Given the description of an element on the screen output the (x, y) to click on. 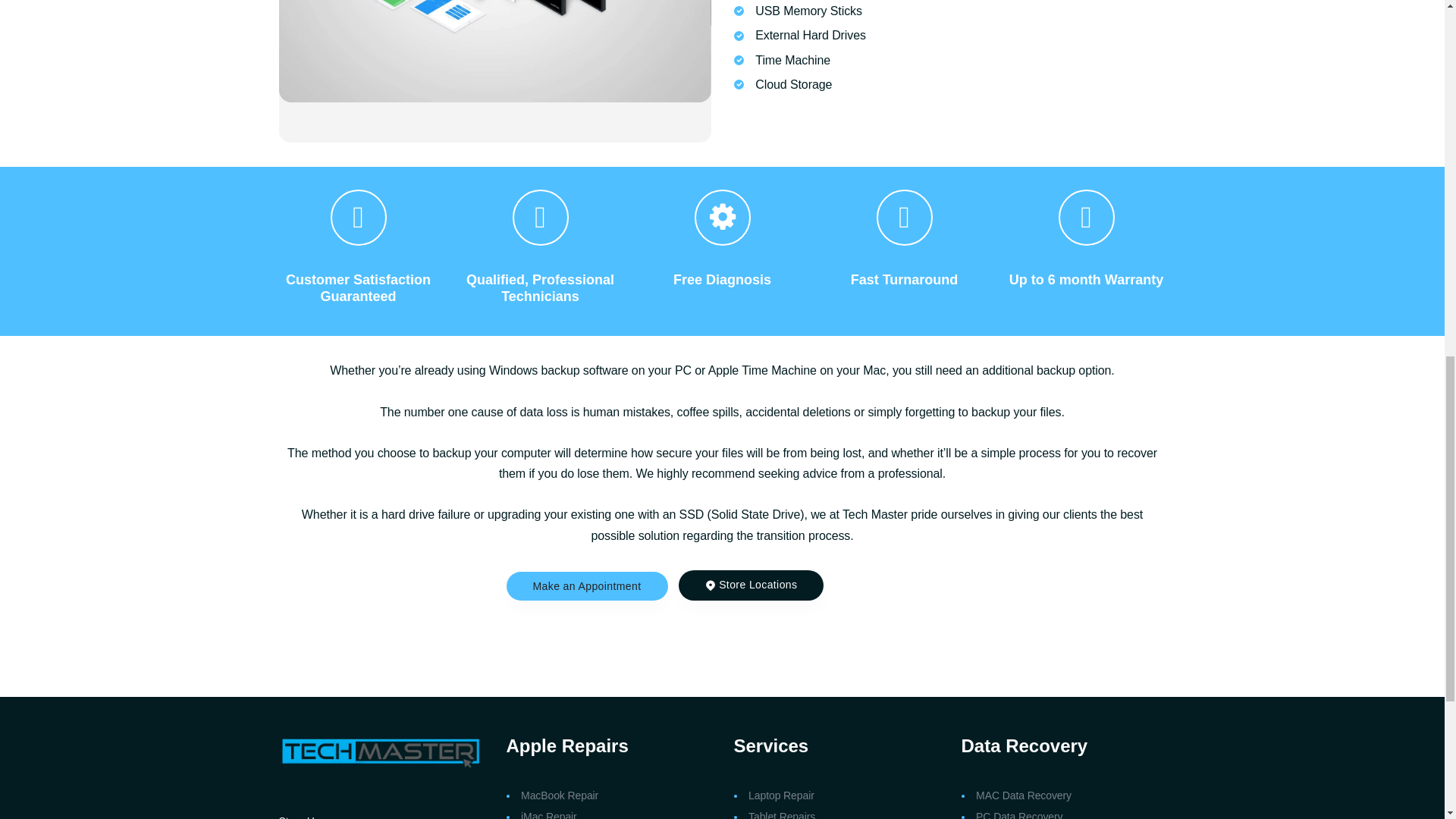
Laptop Repair (780, 795)
Make an Appointment (587, 585)
PC Data Recovery (1018, 814)
MacBook Repair (559, 795)
Tablet Repairs (781, 814)
iMac Repair (548, 814)
Store Locations (751, 585)
MAC Data Recovery (1023, 795)
